Given the description of an element on the screen output the (x, y) to click on. 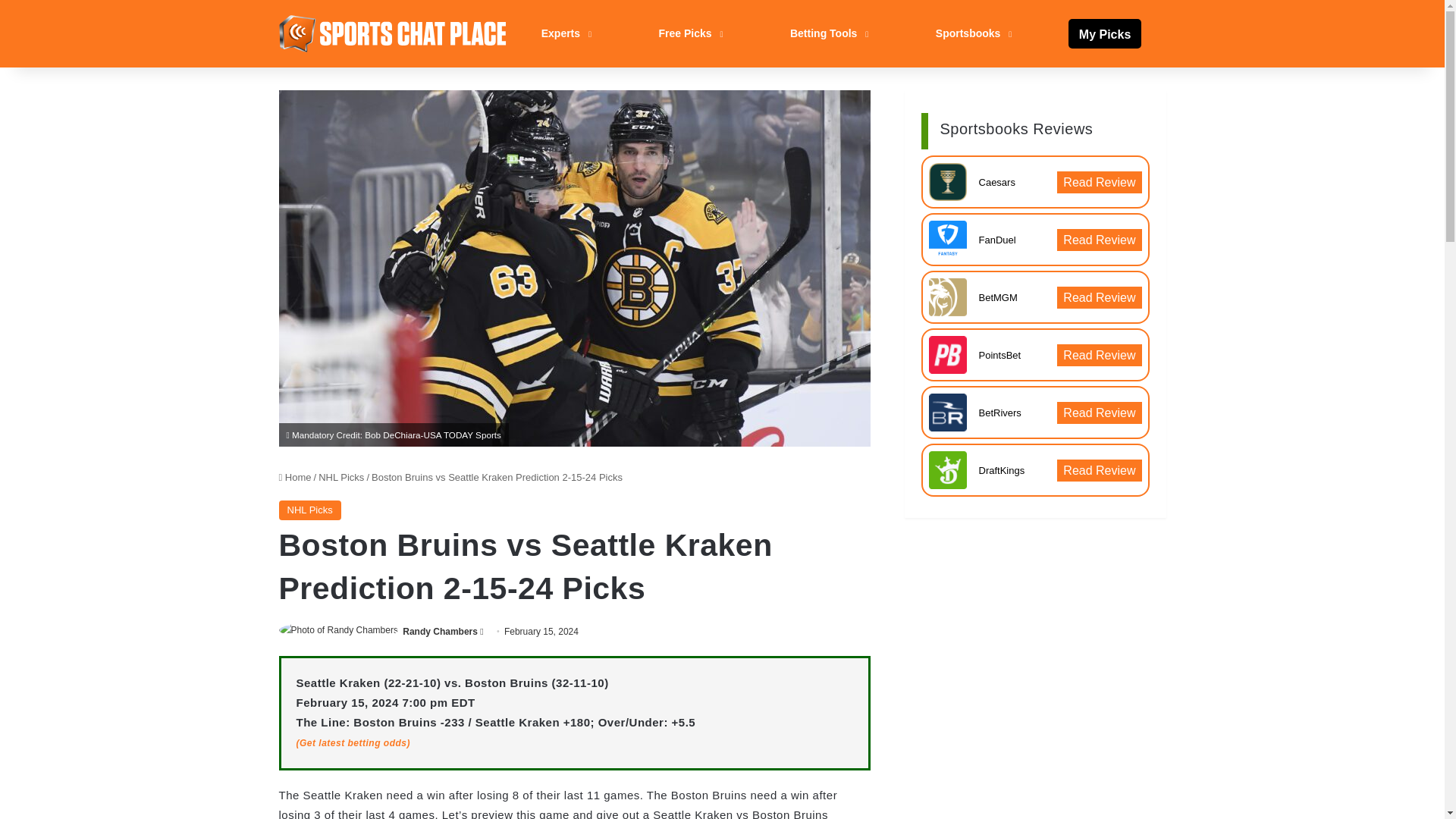
Free Picks (688, 33)
Betting Tools (827, 33)
Randy Chambers (440, 631)
Sports Chat Place Picks, Betting News (392, 33)
Experts (564, 33)
